Given the description of an element on the screen output the (x, y) to click on. 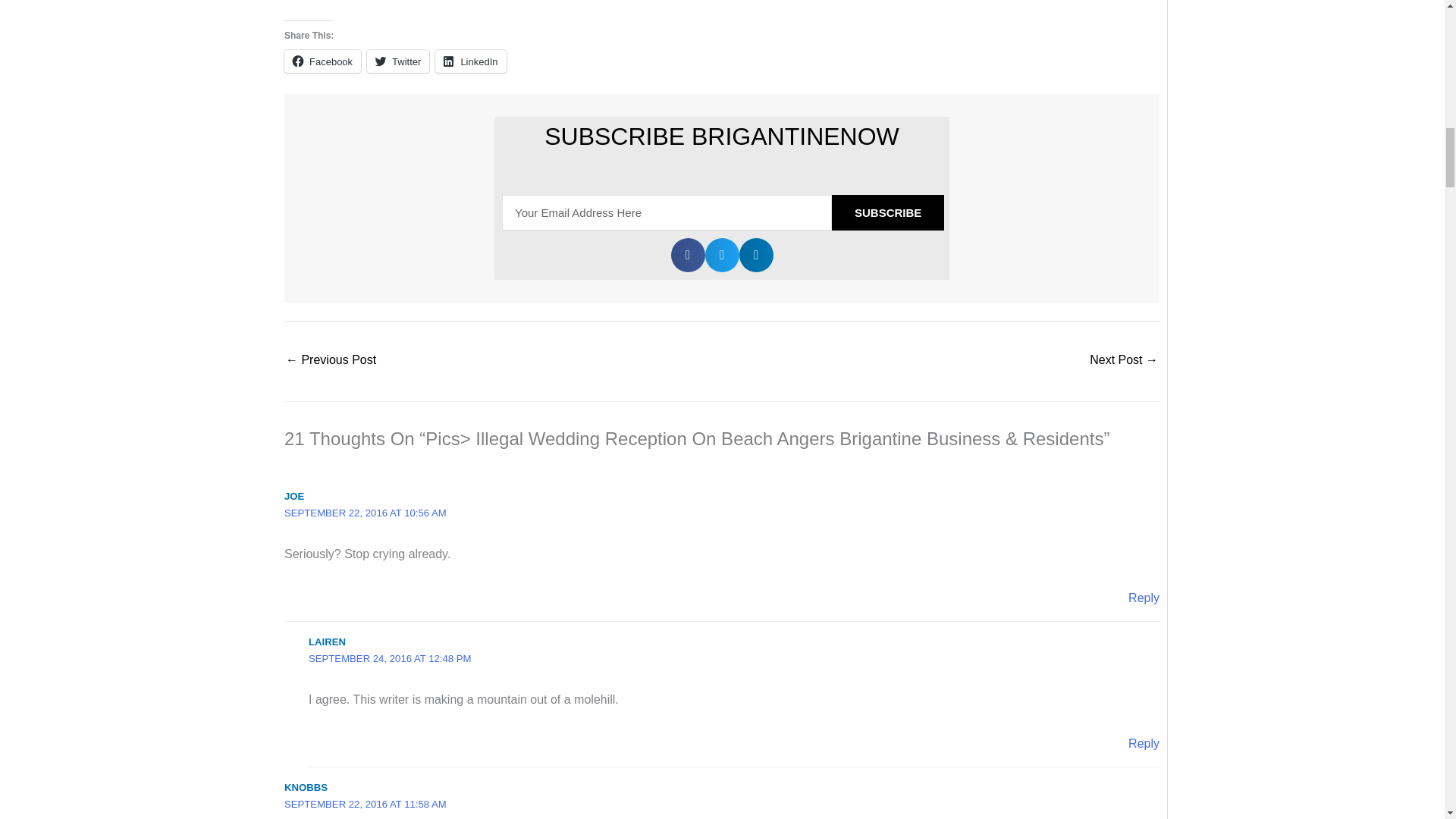
Twitter (397, 60)
Still No Plan for Declining Brigantine Golf Course (330, 361)
SUBSCRIBE (887, 212)
SEPTEMBER 22, 2016 AT 11:58 AM (364, 803)
SEPTEMBER 24, 2016 AT 12:48 PM (389, 658)
Click to share on Twitter (397, 60)
Facebook (322, 60)
Click to share on LinkedIn (470, 60)
Click to share on Facebook (322, 60)
Reply (1143, 743)
Reply (1143, 597)
SEPTEMBER 22, 2016 AT 10:56 AM (364, 512)
LinkedIn (470, 60)
